Given the description of an element on the screen output the (x, y) to click on. 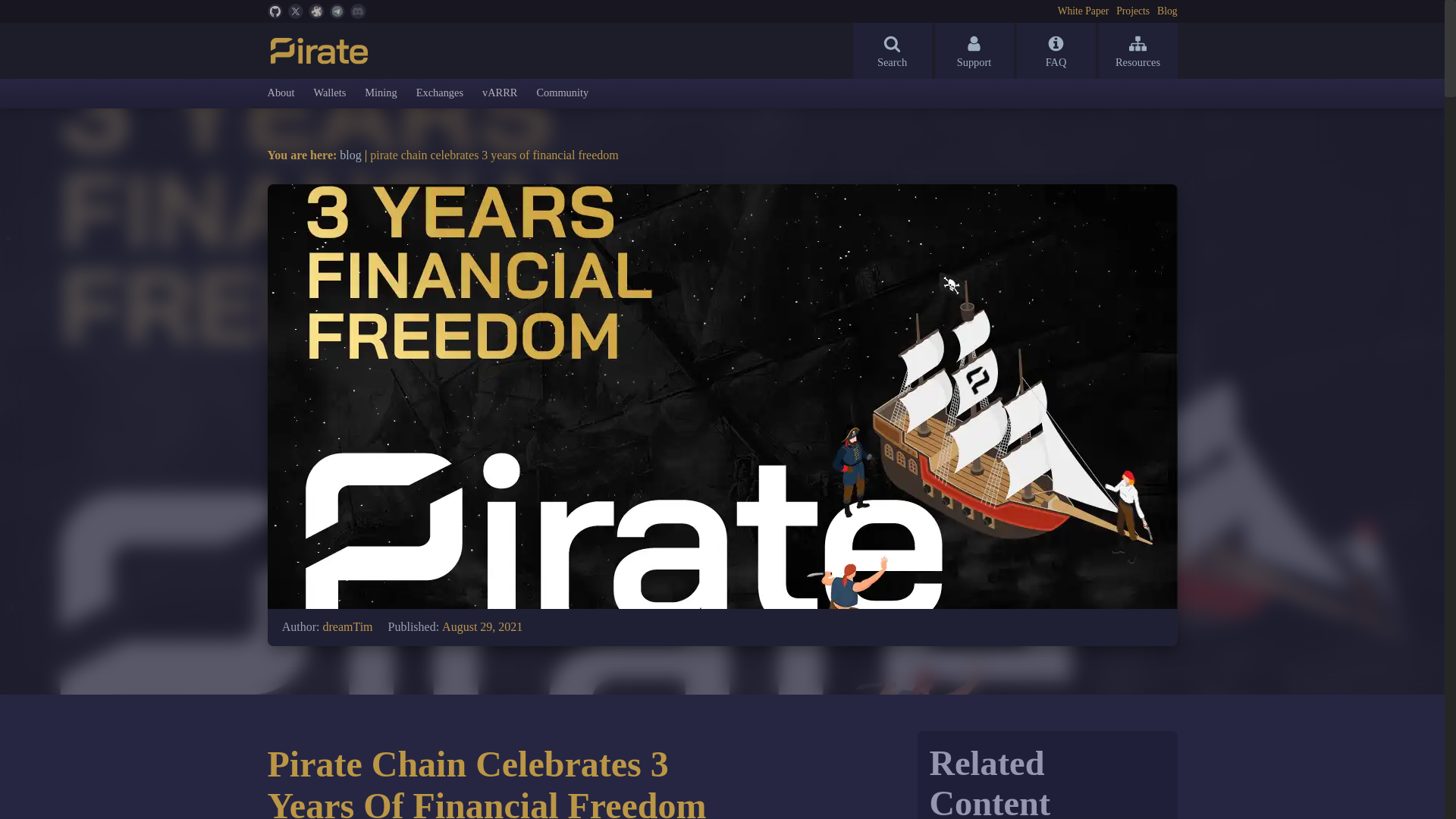
Projects (1133, 10)
About (280, 93)
White Paper (1083, 10)
Community (561, 93)
Pirate Chain Exchanges (439, 93)
Mining (380, 93)
FAQ (1055, 50)
vARRR (498, 93)
Pirate Chain Home Link Logo (319, 50)
Pirate Chain Community (561, 93)
Exchanges (439, 93)
Pirate Chain About (280, 93)
Pirate Chain Wallets (329, 93)
Blog (1166, 10)
vARRR (498, 93)
